Given the description of an element on the screen output the (x, y) to click on. 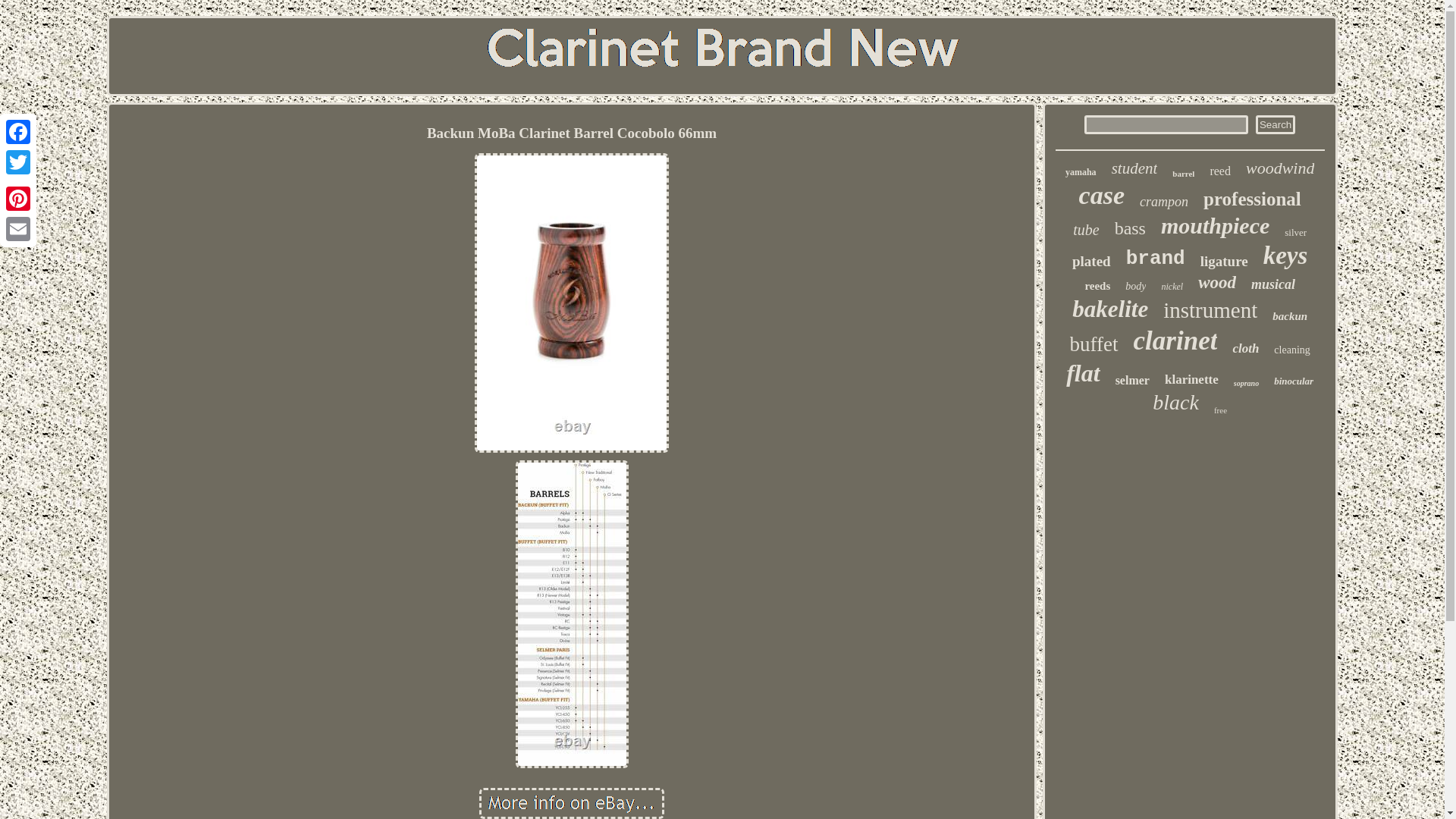
reeds (1096, 286)
Email (17, 228)
Facebook (17, 132)
Search (1275, 124)
wood (1217, 282)
bakelite (1109, 308)
case (1101, 194)
keys (1285, 255)
brand (1155, 258)
plated (1090, 261)
nickel (1171, 286)
woodwind (1280, 168)
crampon (1164, 201)
Backun MoBa Clarinet Barrel Cocobolo 66mm (571, 803)
student (1134, 168)
